Given the description of an element on the screen output the (x, y) to click on. 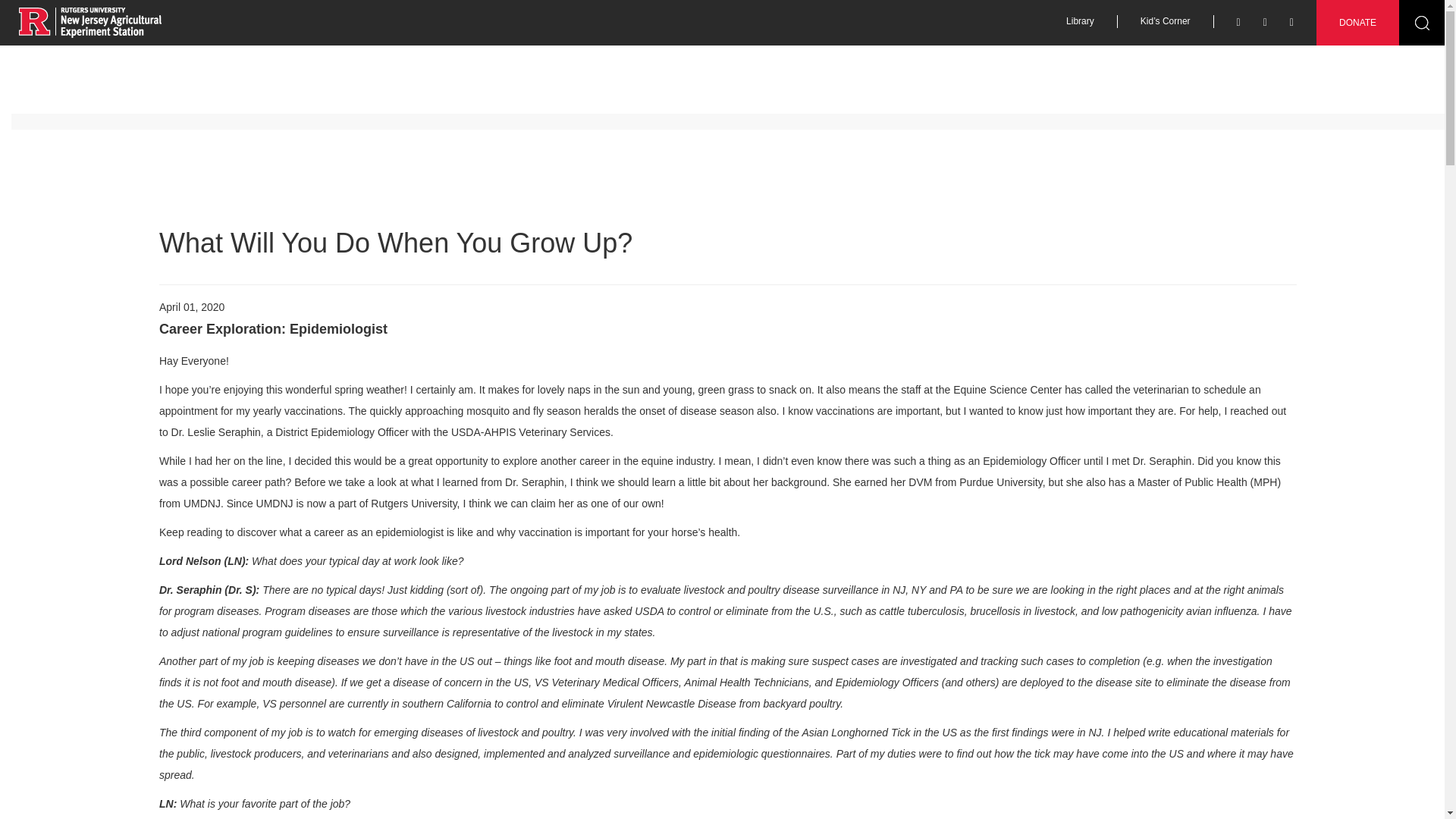
DONATE (1357, 22)
Equine Science Center (89, 21)
Library (1080, 21)
